Given the description of an element on the screen output the (x, y) to click on. 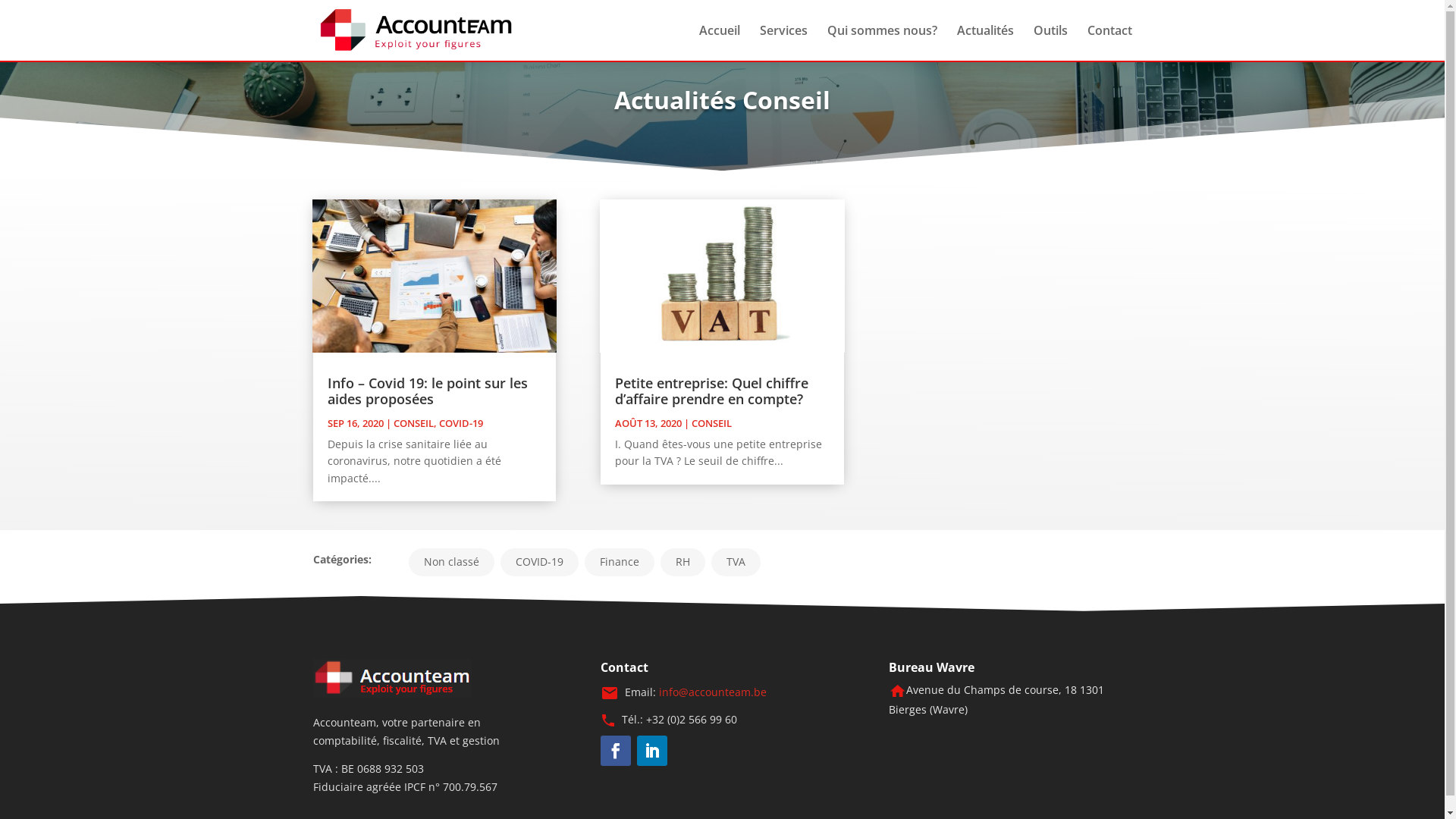
Outils Element type: text (1049, 42)
info@accounteam.be Element type: text (712, 691)
Accueil Element type: text (719, 42)
Services Element type: text (783, 42)
Finance Element type: text (618, 562)
Follow on Facebook Element type: hover (615, 750)
Qui sommes nous? Element type: text (881, 42)
COVID-19 Element type: text (539, 562)
Follow on LinkedIn Element type: hover (652, 750)
COVID-19 Element type: text (460, 422)
RH Element type: text (681, 562)
CONSEIL Element type: text (412, 422)
TVA Element type: text (735, 562)
CONSEIL Element type: text (711, 422)
Contact Element type: text (1109, 42)
Avenue du Champs de course, 18 1301 Bierges (Wavre) Element type: text (996, 699)
